Given the description of an element on the screen output the (x, y) to click on. 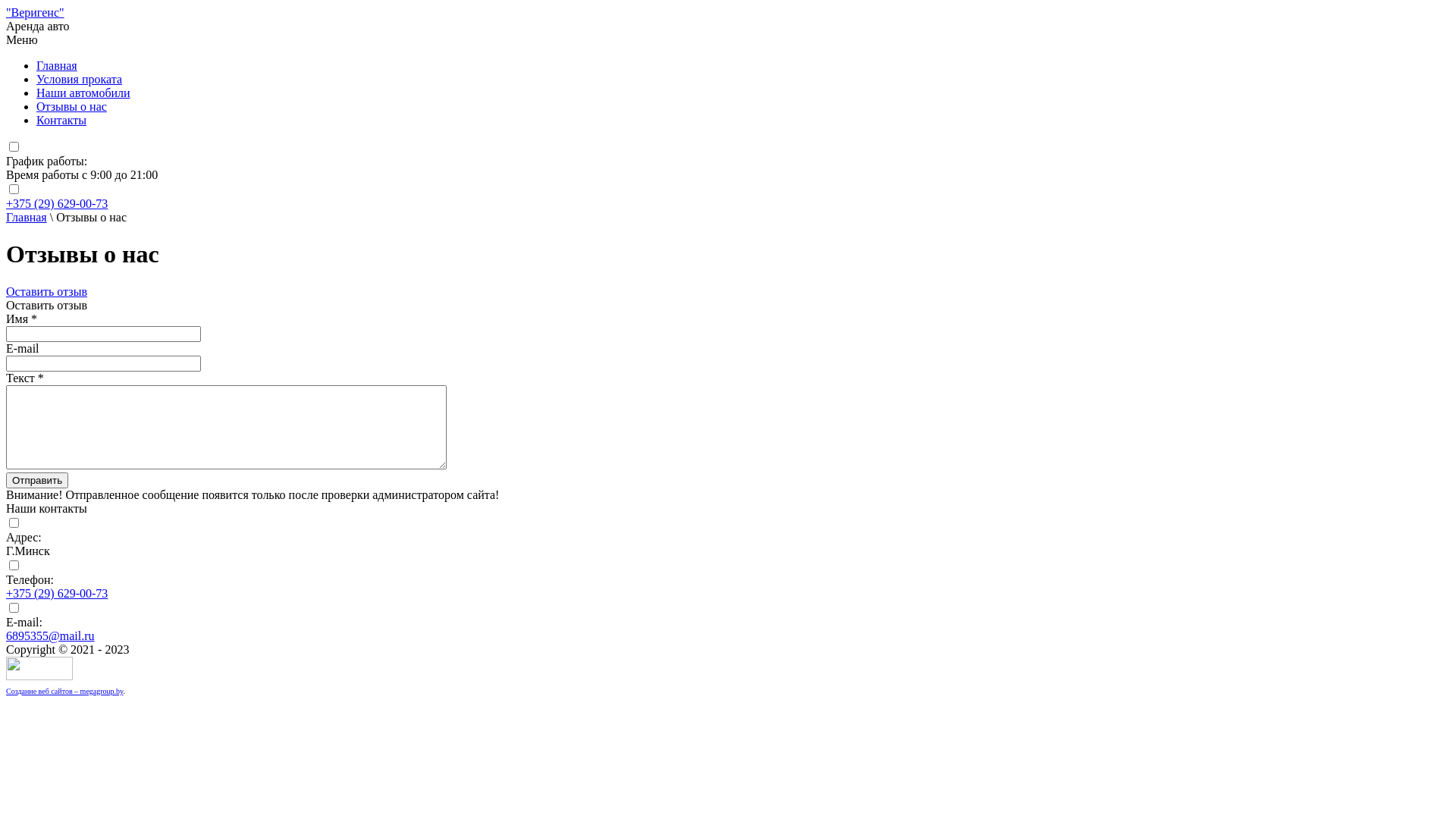
6895355@mail.ru Element type: text (50, 635)
+375 (29) 629-00-73 Element type: text (56, 203)
+375 (29) 629-00-73 Element type: text (56, 592)
